Given the description of an element on the screen output the (x, y) to click on. 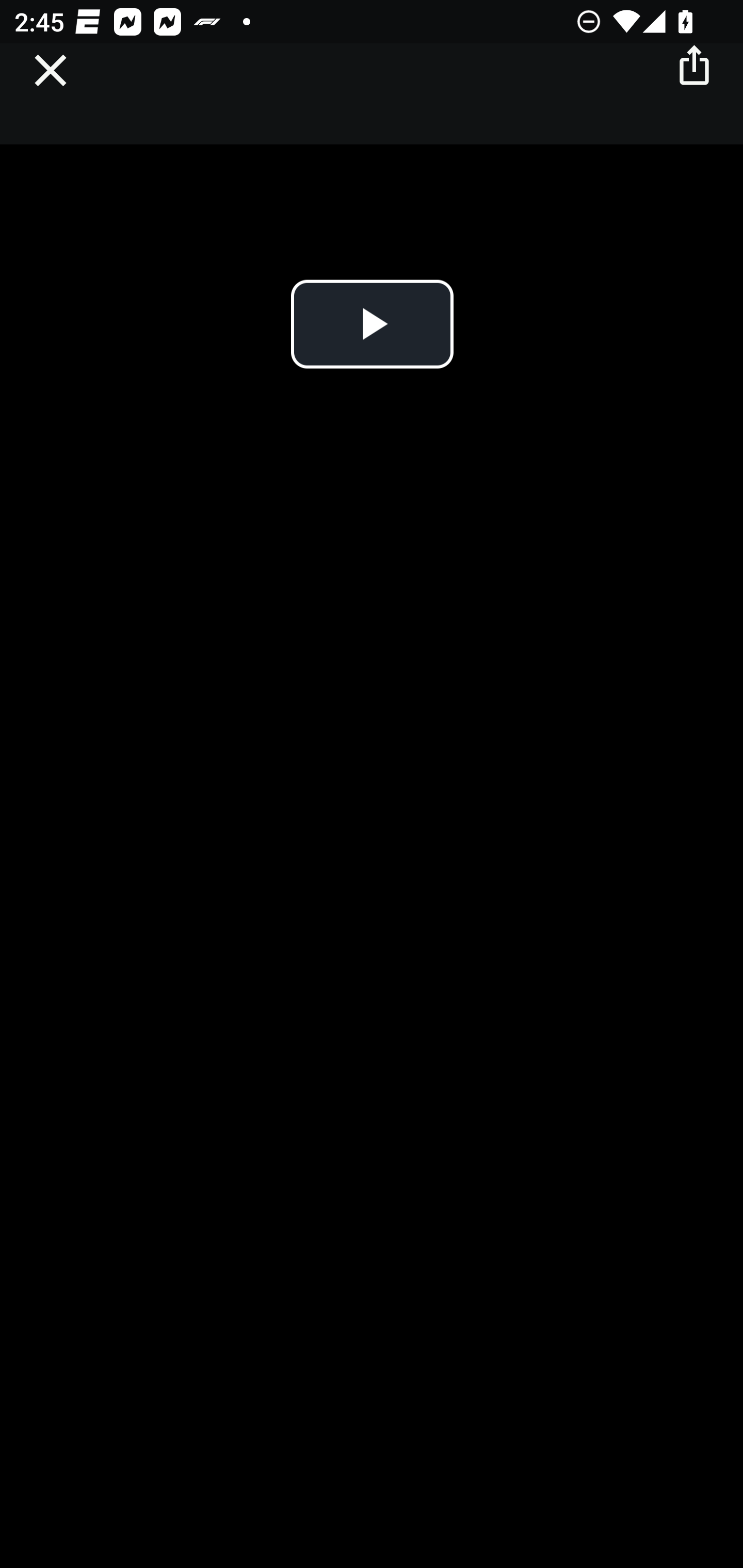
Play Video (371, 324)
